Given the description of an element on the screen output the (x, y) to click on. 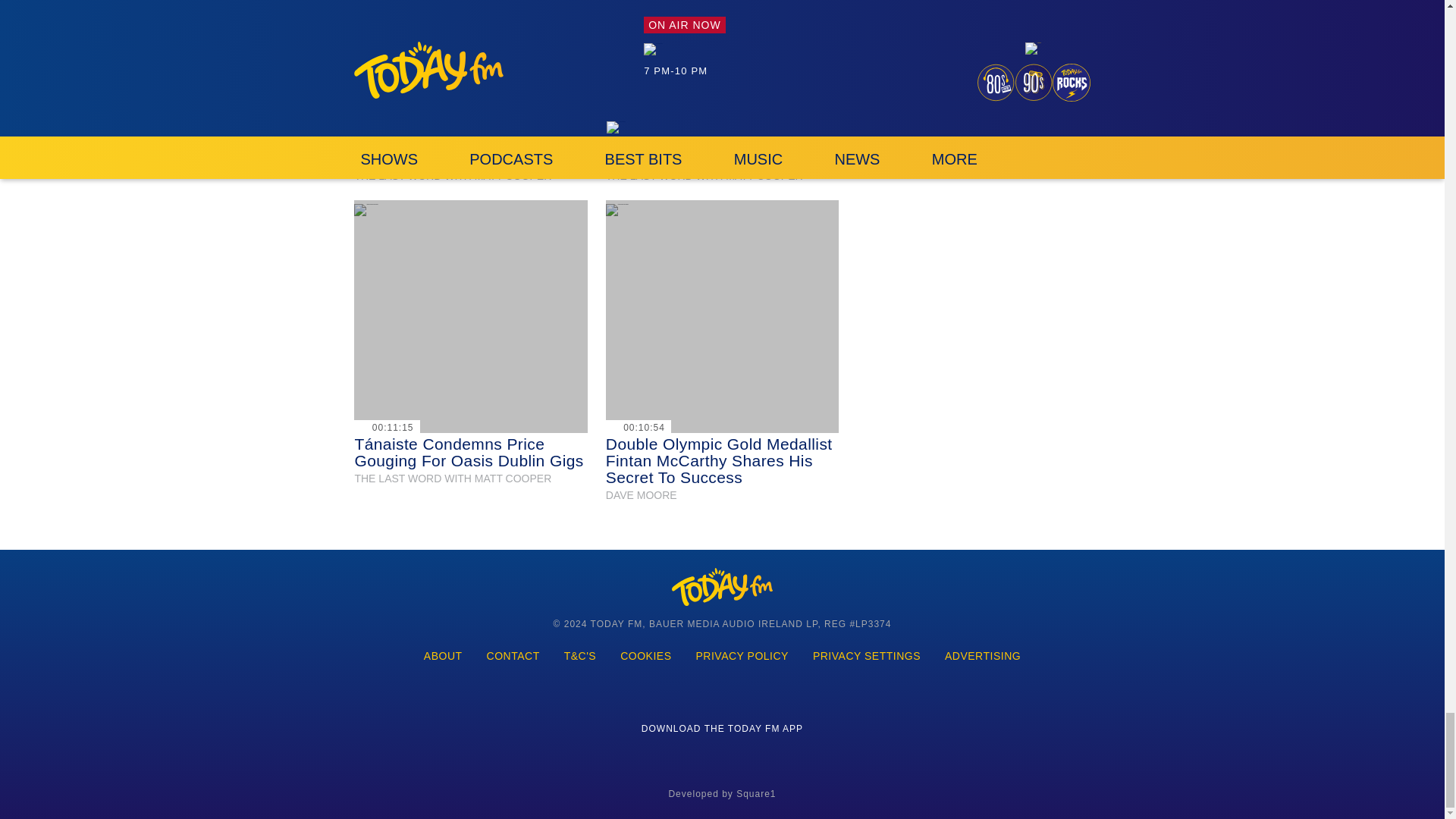
About (443, 656)
Cookies (645, 656)
Contact (512, 656)
Privacy settings (866, 656)
Privacy Policy (742, 656)
Advertising (982, 656)
